Given the description of an element on the screen output the (x, y) to click on. 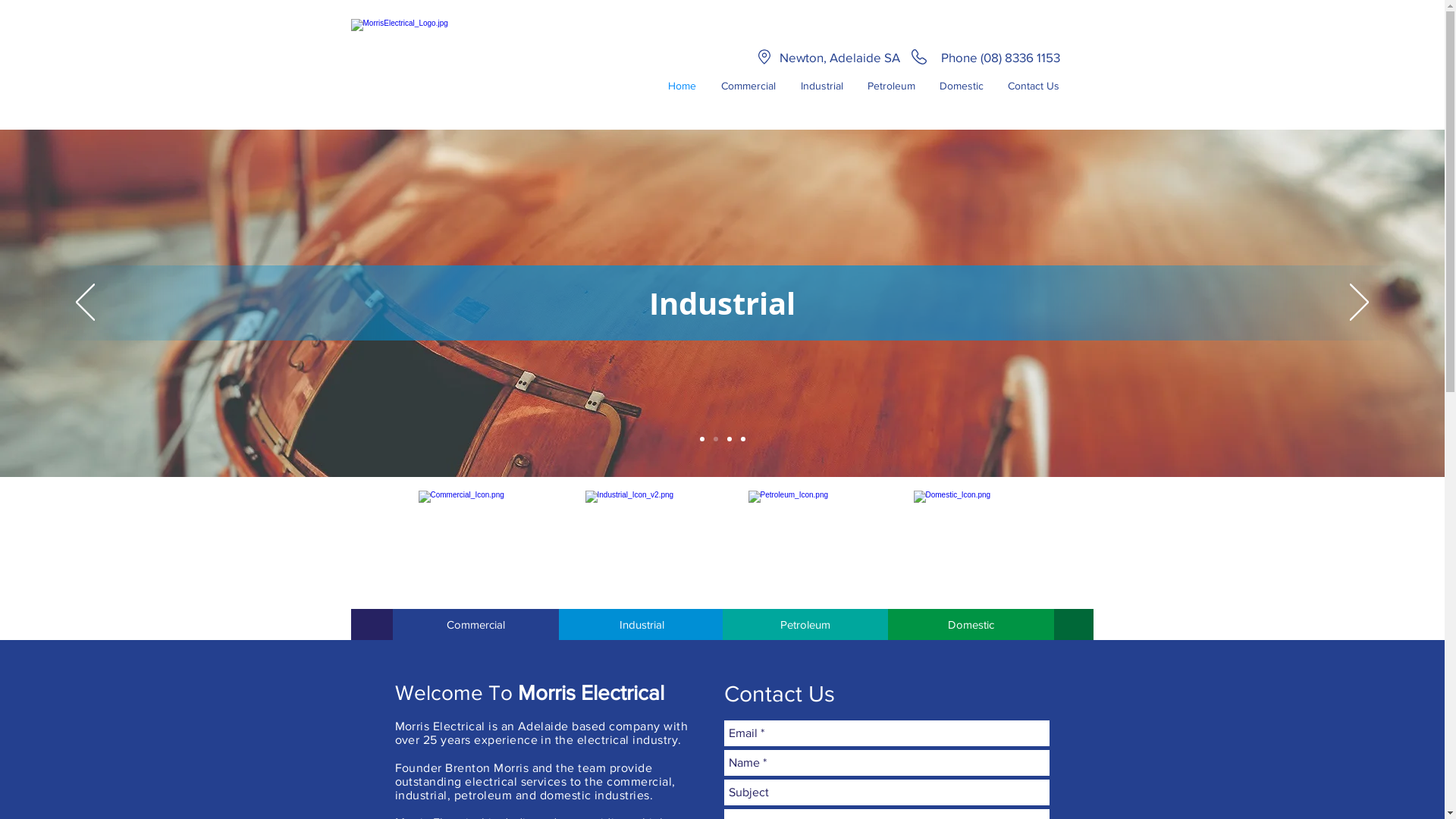
Petroleum Element type: text (804, 624)
Home Element type: text (681, 85)
Industrial Element type: text (641, 624)
Domestic Element type: text (960, 85)
Commercial Element type: text (475, 624)
Petroleum Element type: text (891, 85)
Domestic Element type: text (970, 624)
Commercial Element type: text (747, 85)
Contact Us Element type: text (1032, 85)
Industrial Element type: text (821, 85)
